Given the description of an element on the screen output the (x, y) to click on. 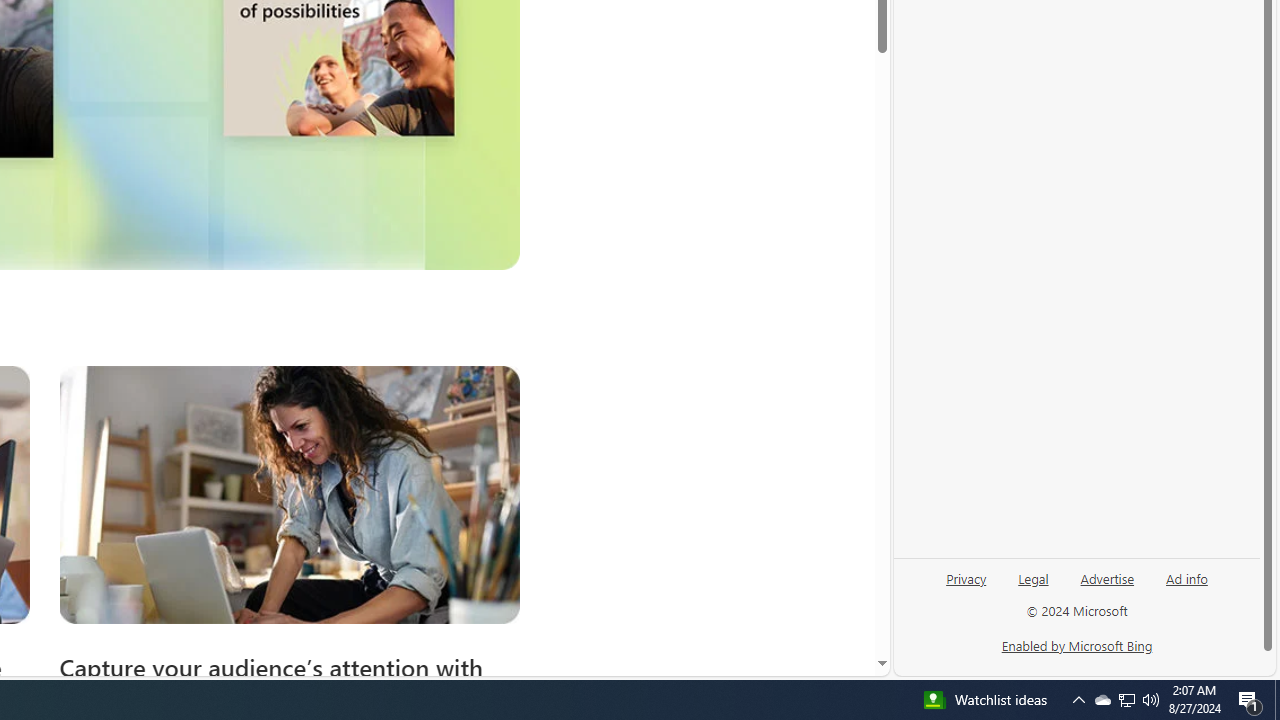
Ad info (1187, 577)
Ad info (1186, 586)
